Given the description of an element on the screen output the (x, y) to click on. 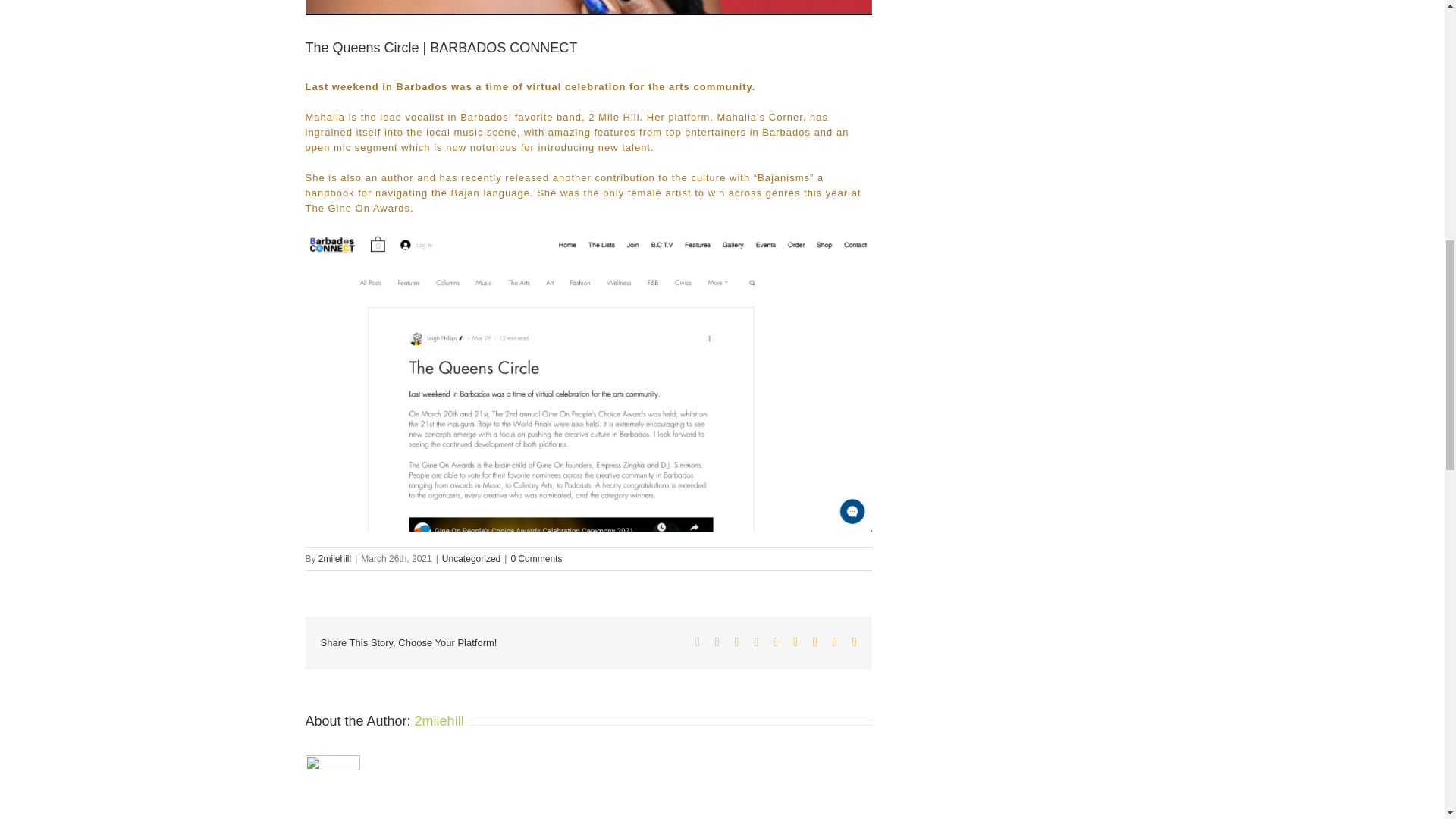
2milehill (334, 558)
0 Comments (536, 558)
Uncategorized (471, 558)
2milehill (439, 720)
Posts by 2milehill (439, 720)
Posts by 2milehill (334, 558)
